Given the description of an element on the screen output the (x, y) to click on. 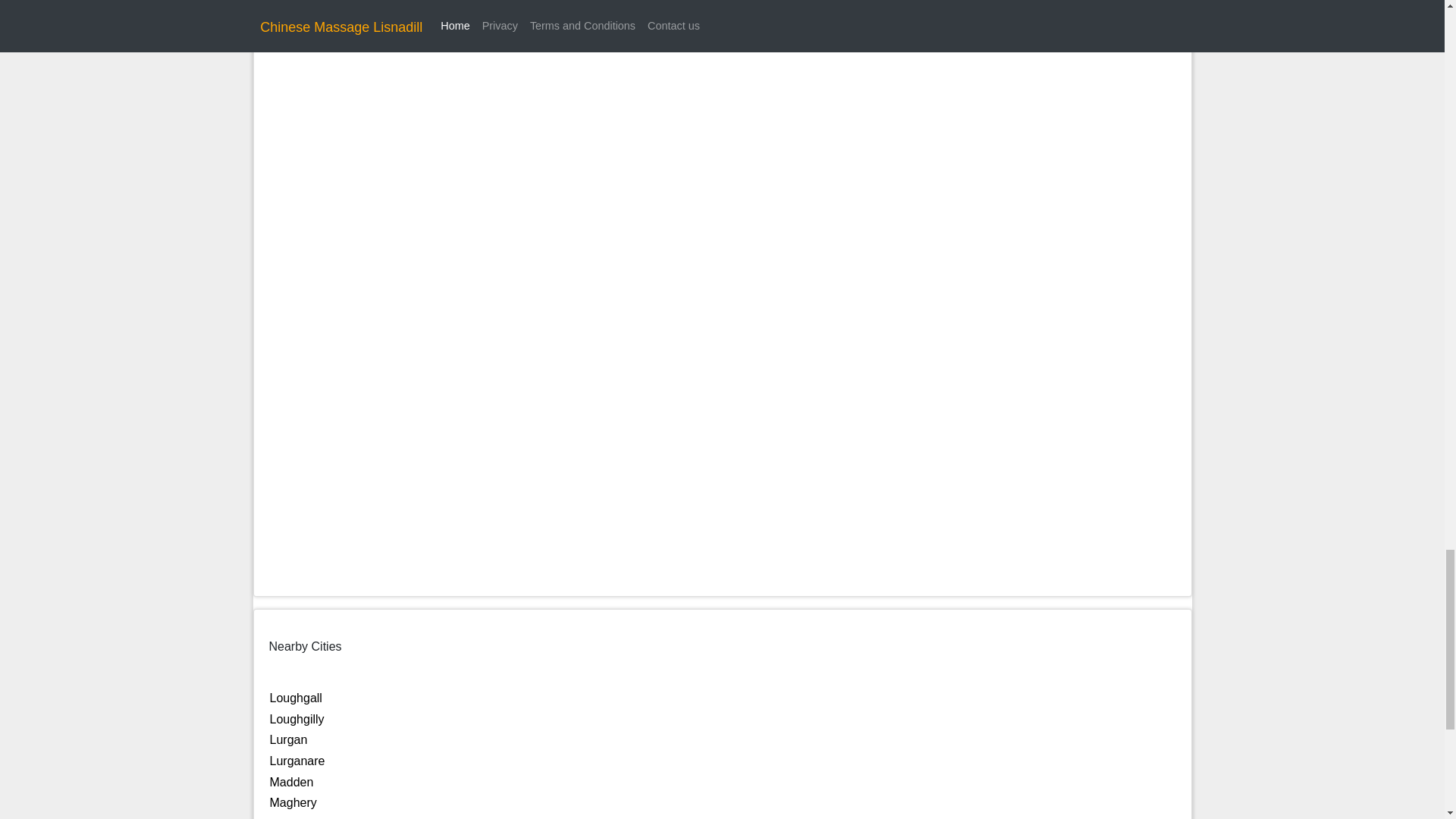
Lurgan (288, 739)
Madden (291, 781)
Lurganare (296, 760)
Markethill (295, 818)
Maghery (293, 802)
Loughgilly (296, 718)
Loughgall (295, 697)
